Given the description of an element on the screen output the (x, y) to click on. 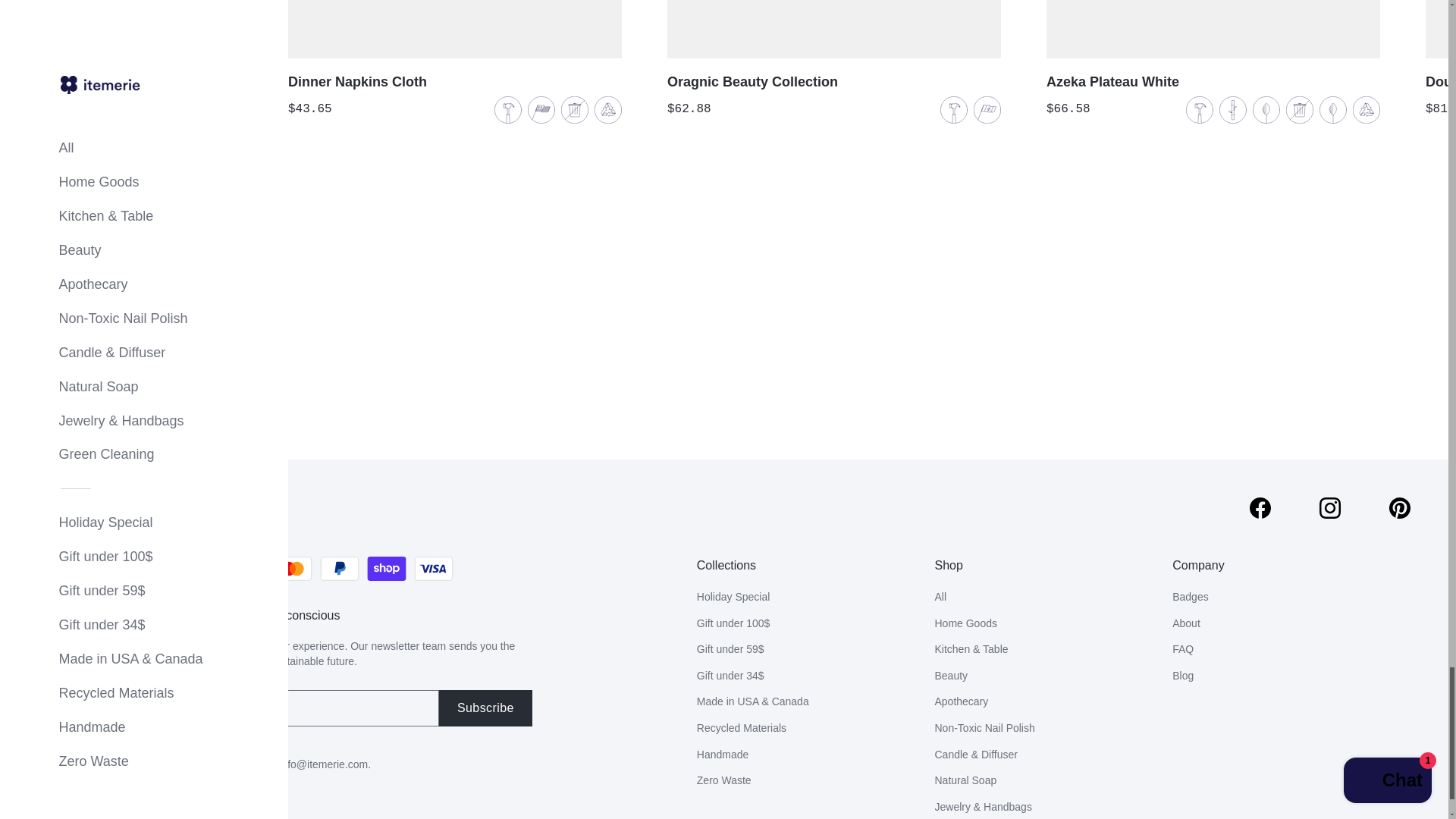
itemerie on Facebook (1260, 507)
itemerie on Pinterest, (1399, 507)
itemerie on Instagram (1329, 507)
